Given the description of an element on the screen output the (x, y) to click on. 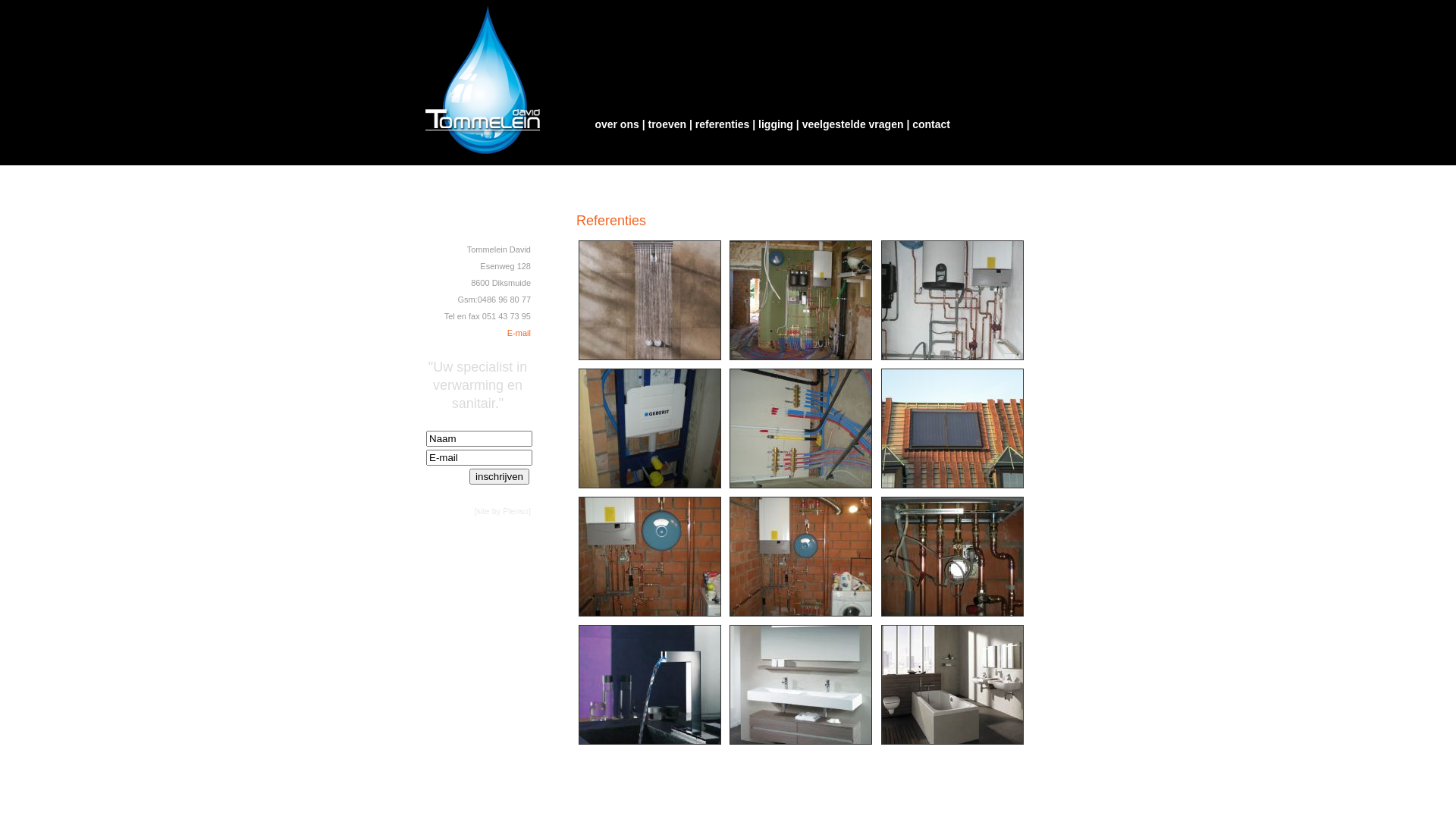
ligging Element type: text (775, 124)
Verwarmingensanitairspecialist   Element type: hover (800, 362)
Verwarmingensanitairspecialist   Element type: hover (952, 746)
troeven Element type: text (666, 124)
Verwarmingensanitairspecialist   Element type: hover (649, 746)
Verwarmingensanitairspecialist   Element type: hover (800, 746)
Verwarmingensanitairspecialist   Element type: hover (649, 362)
Verwarmingensanitairspecialist   Element type: hover (800, 490)
[site by Plenso] Element type: text (501, 510)
referenties Element type: text (722, 124)
inschrijven Element type: text (499, 476)
Verwarmingensanitairspecialist   Element type: hover (952, 490)
Verwarmingensanitairspecialist   Element type: hover (649, 618)
Verwarmingensanitairspecialist   Element type: hover (952, 618)
E-mail Element type: text (518, 332)
Verwarmingensanitairspecialist   Element type: hover (952, 362)
veelgestelde vragen Element type: text (852, 124)
Verwarmingensanitairspecialist   Element type: hover (649, 490)
Verwarmingensanitairspecialist   Element type: hover (800, 618)
over ons Element type: text (616, 124)
contact Element type: text (931, 124)
